Given the description of an element on the screen output the (x, y) to click on. 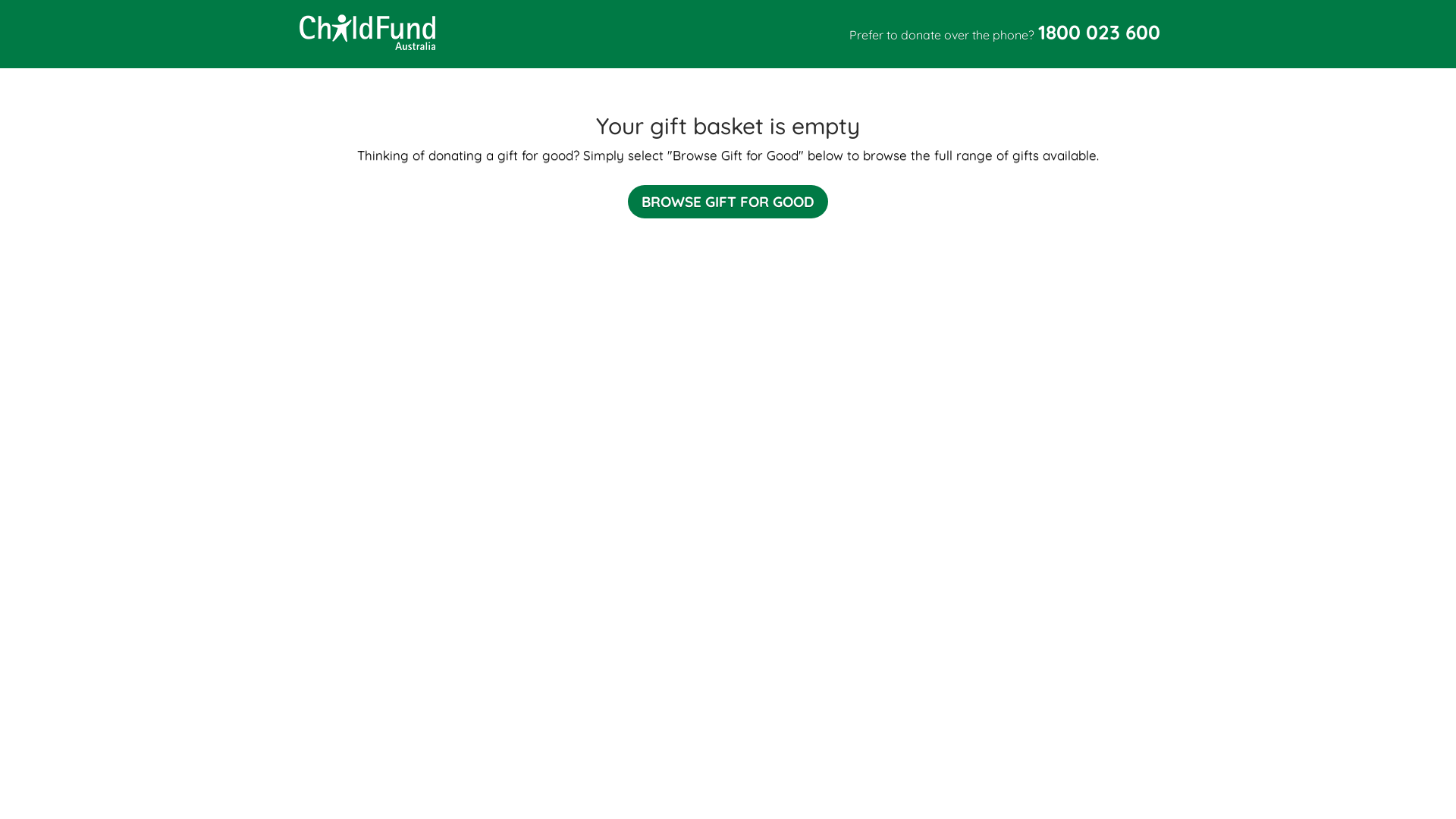
BROWSE GIFT FOR GOOD Element type: text (727, 201)
1800 023 600 Element type: text (1099, 32)
